Given the description of an element on the screen output the (x, y) to click on. 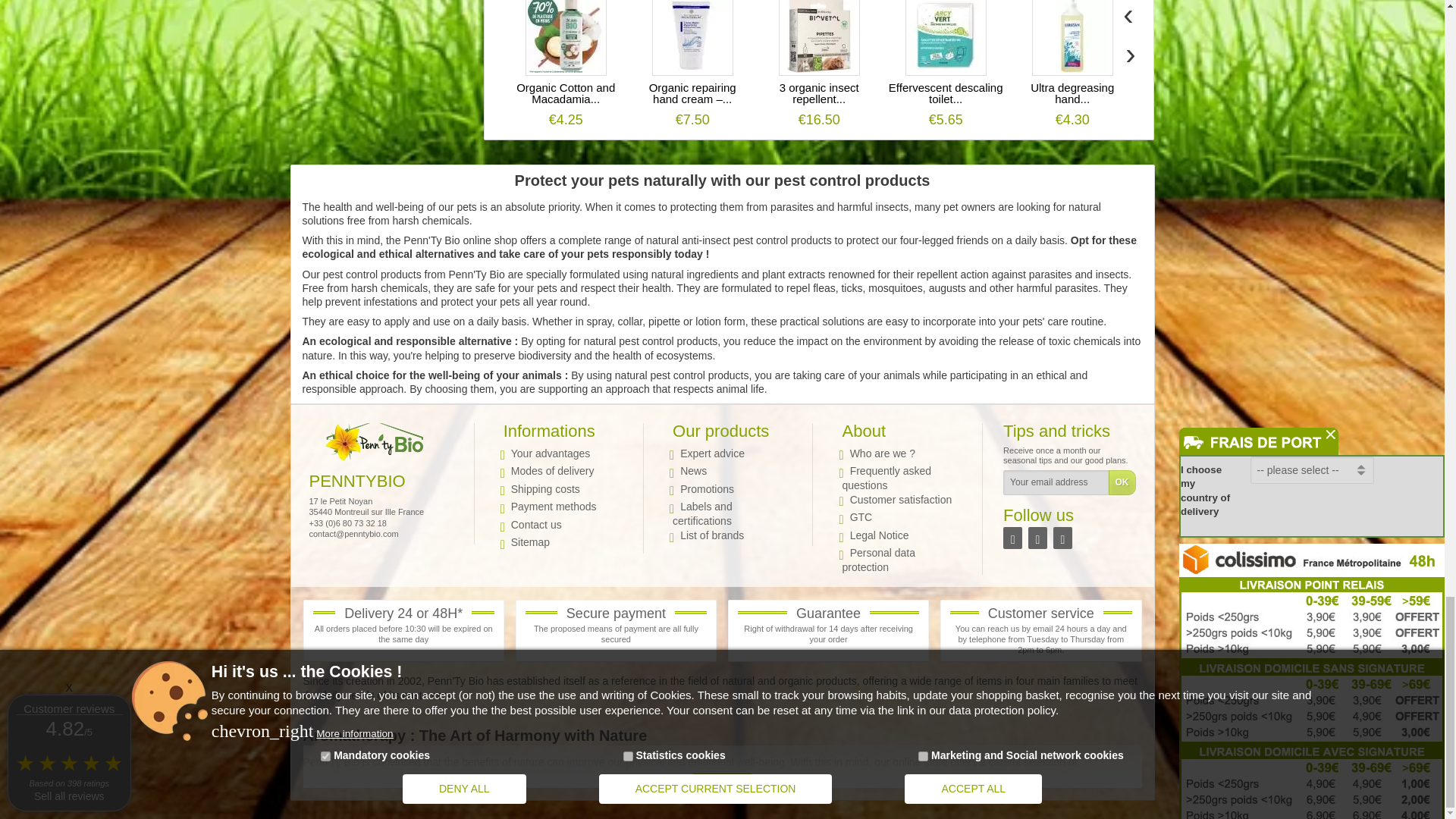
OK (1121, 483)
